Given the description of an element on the screen output the (x, y) to click on. 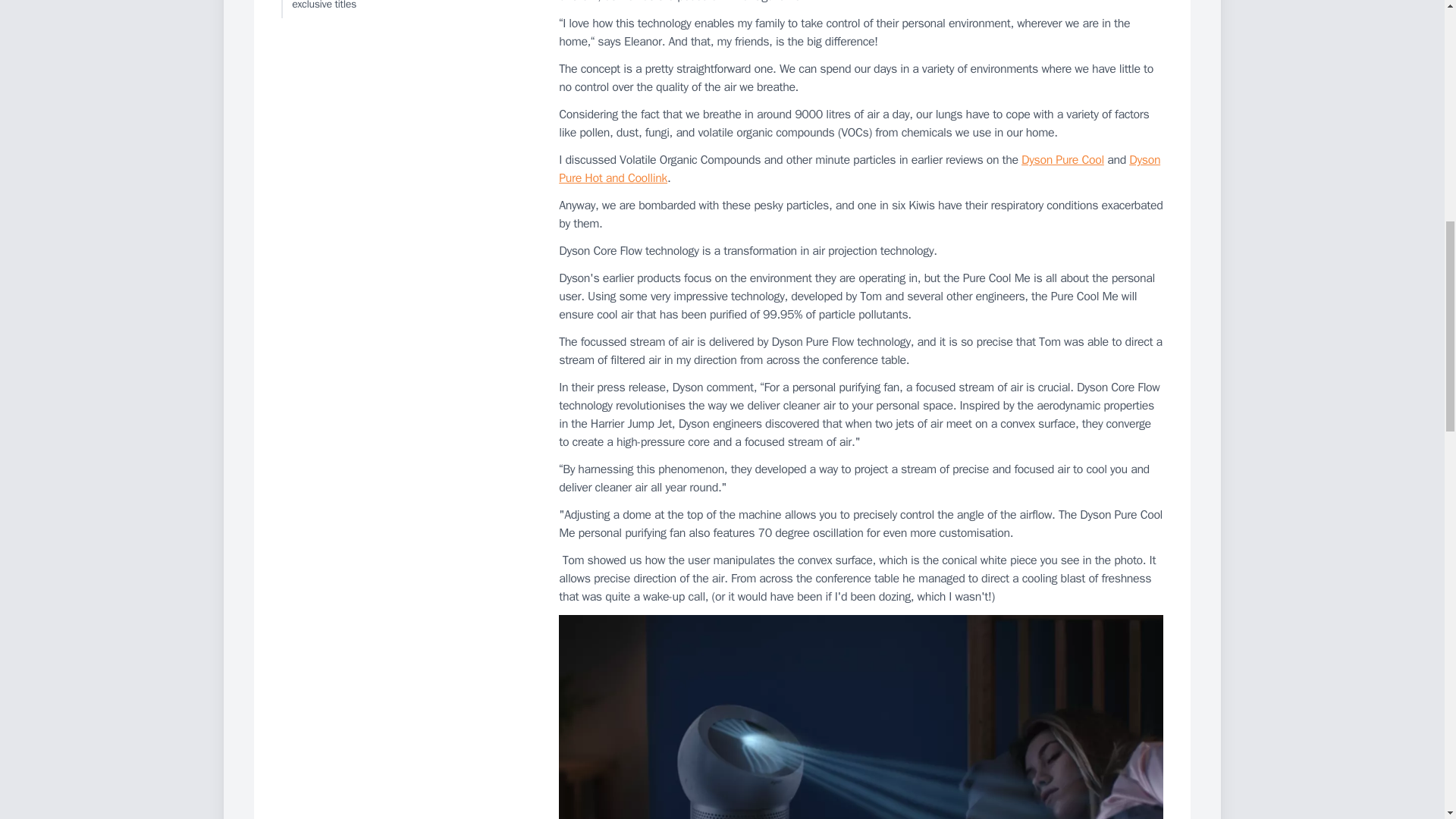
Dyson Pure Cool (1062, 159)
Dyson Pure Hot and Coollink (859, 168)
